Given the description of an element on the screen output the (x, y) to click on. 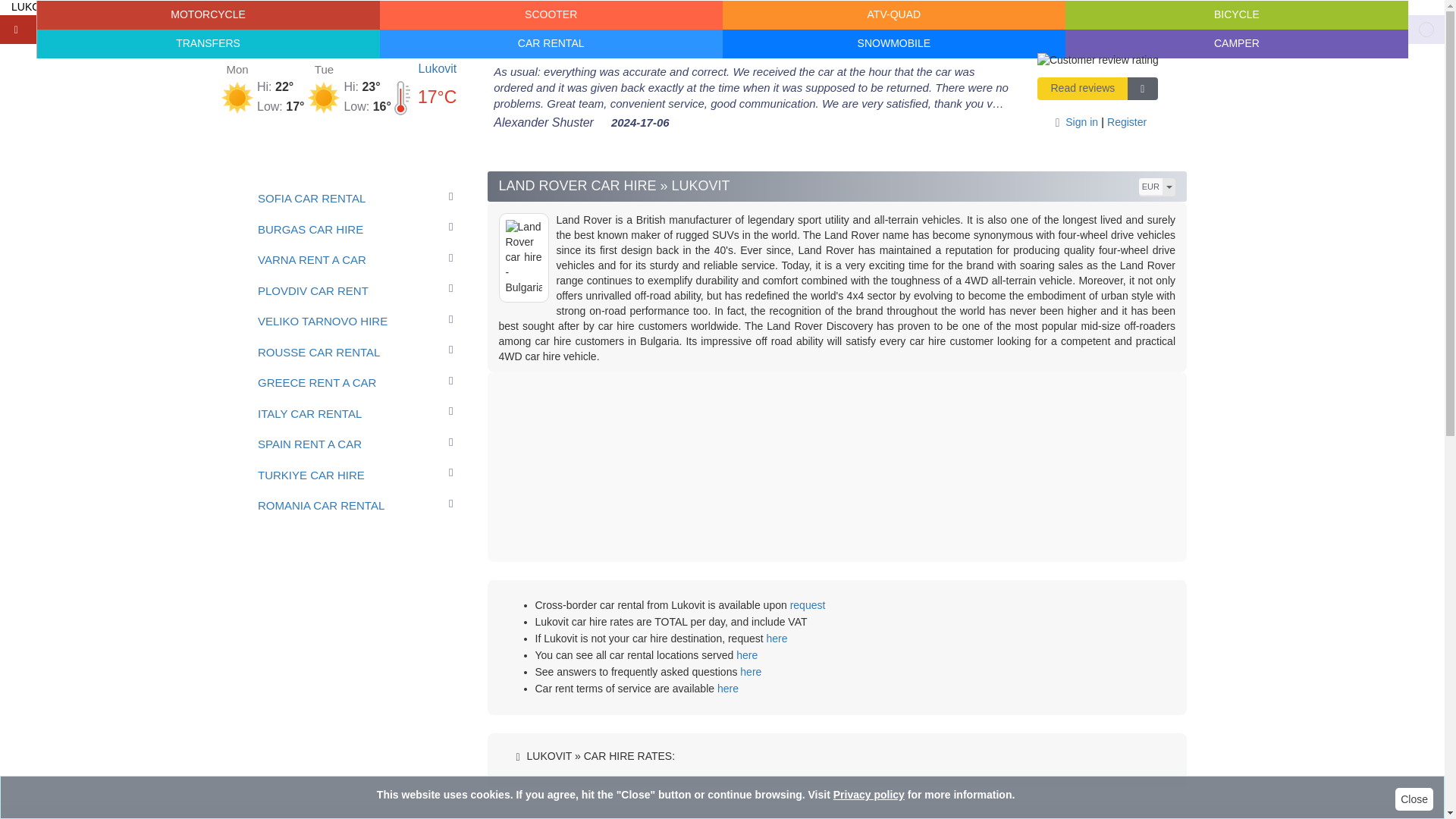
ATV-QUAD (893, 14)
CAMPER (1236, 43)
MOTORCYCLE (207, 14)
Customer review rating (1097, 60)
Read reviews (1082, 87)
SNOWMOBILE (893, 43)
TRANSFERS (207, 43)
SCOOTER (551, 14)
  Sign in (1074, 121)
BICYCLE (1236, 14)
